Given the description of an element on the screen output the (x, y) to click on. 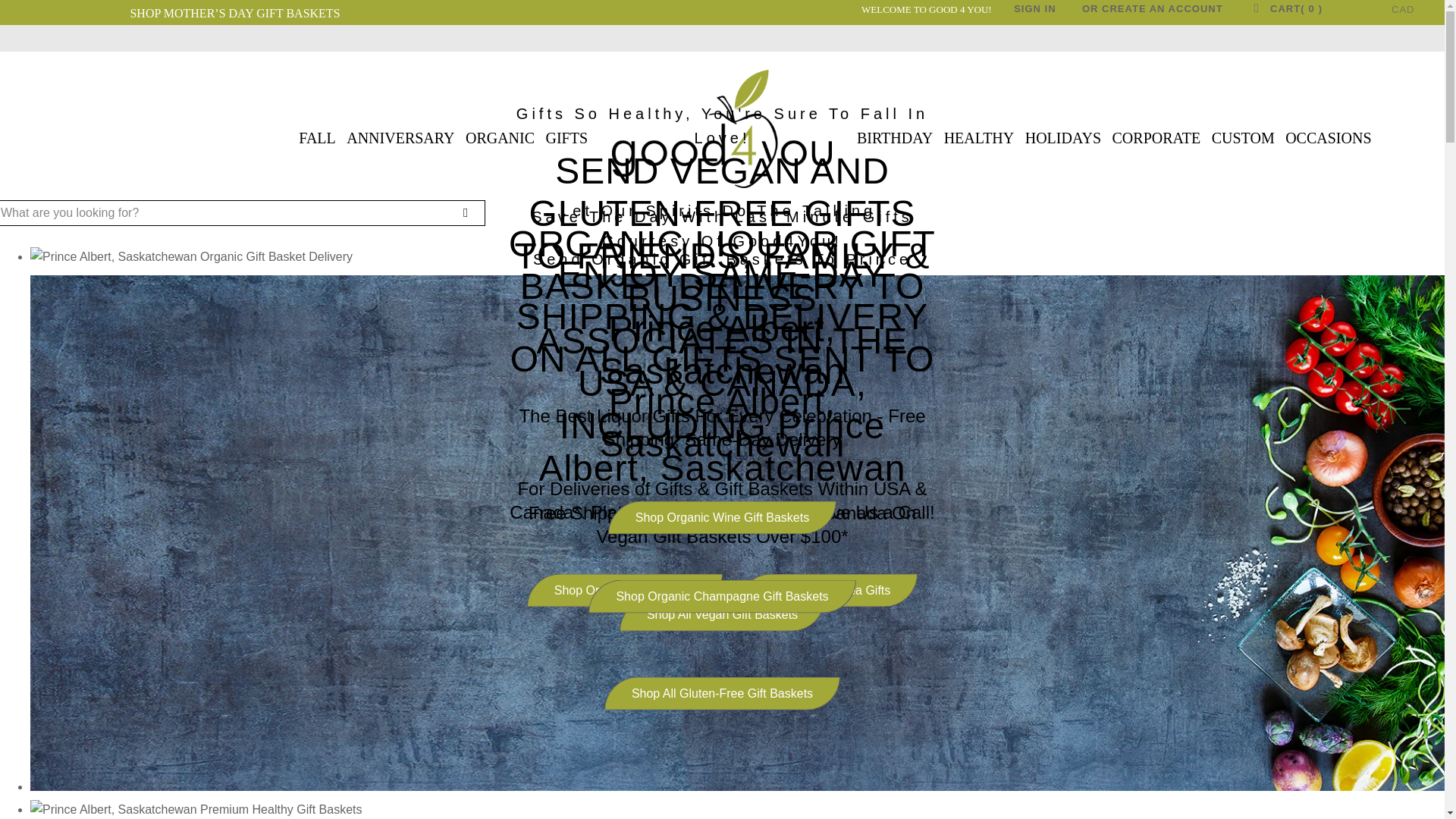
Good 4 You Gift Baskets Canada (722, 128)
My Account  (1152, 12)
My Account  (1034, 12)
